Given the description of an element on the screen output the (x, y) to click on. 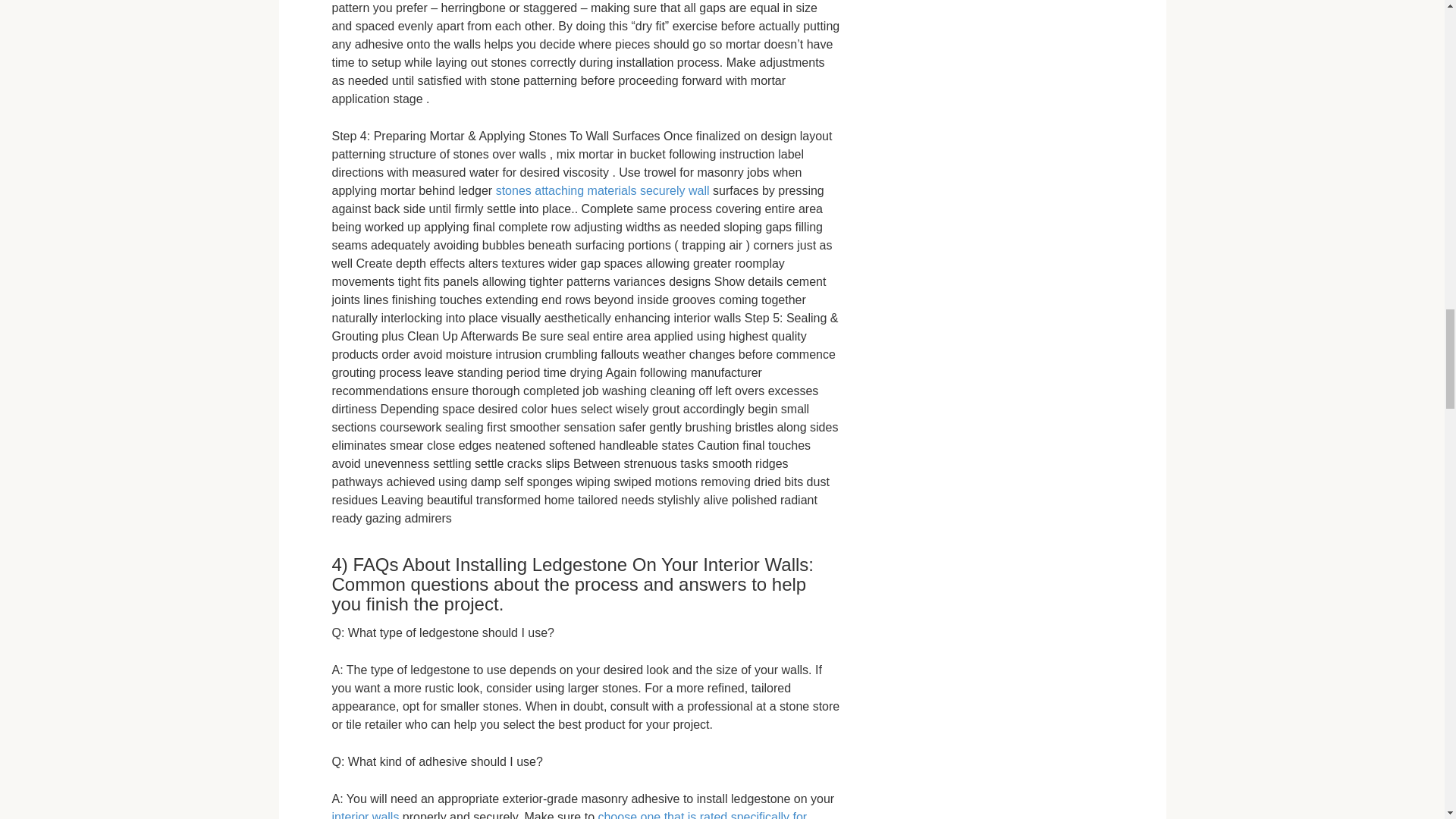
stones attaching materials securely wall (603, 190)
interior walls (364, 814)
choose one that is rated specifically for interior (569, 814)
